Given the description of an element on the screen output the (x, y) to click on. 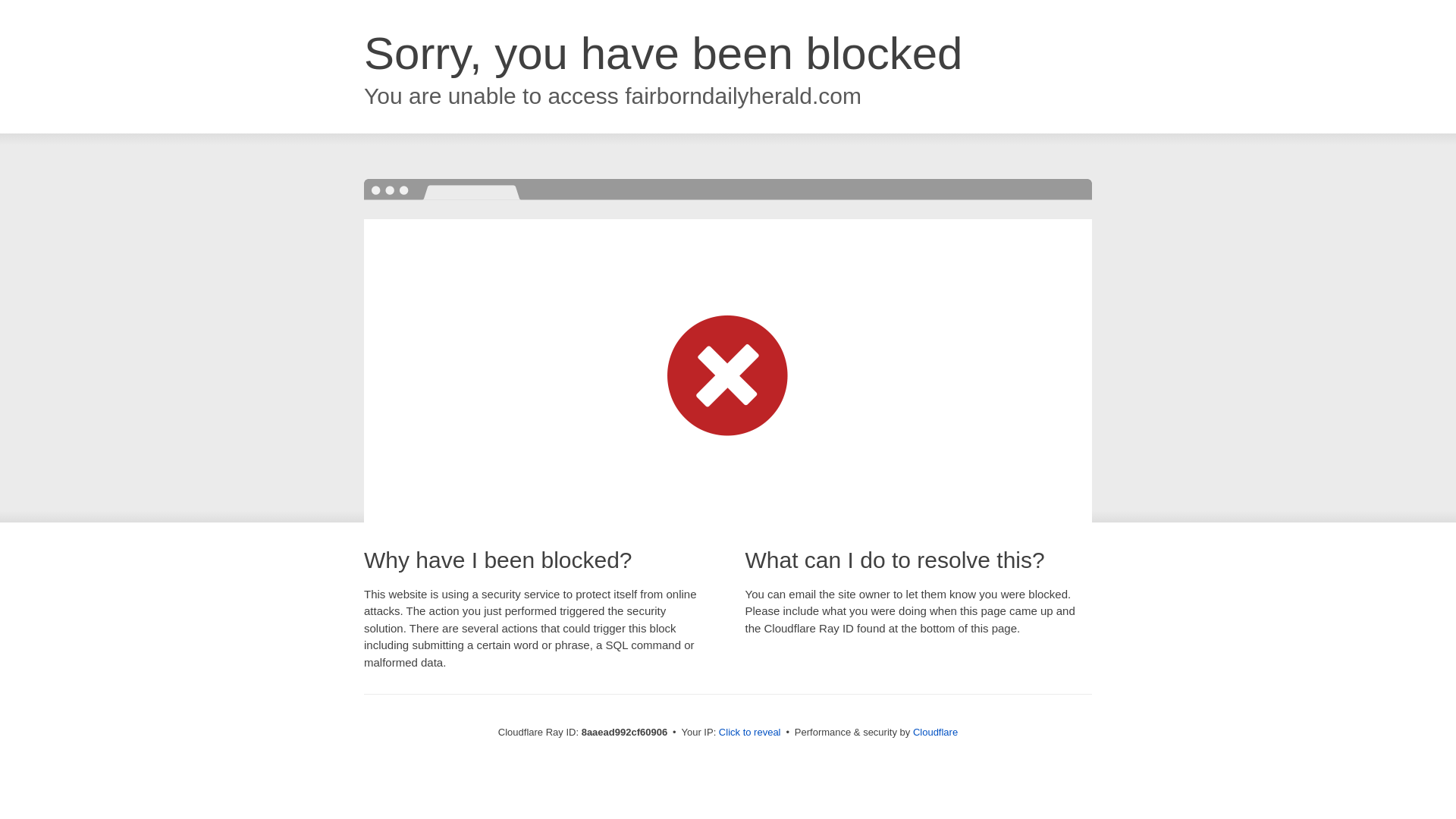
Click to reveal (749, 732)
Cloudflare (935, 731)
